Given the description of an element on the screen output the (x, y) to click on. 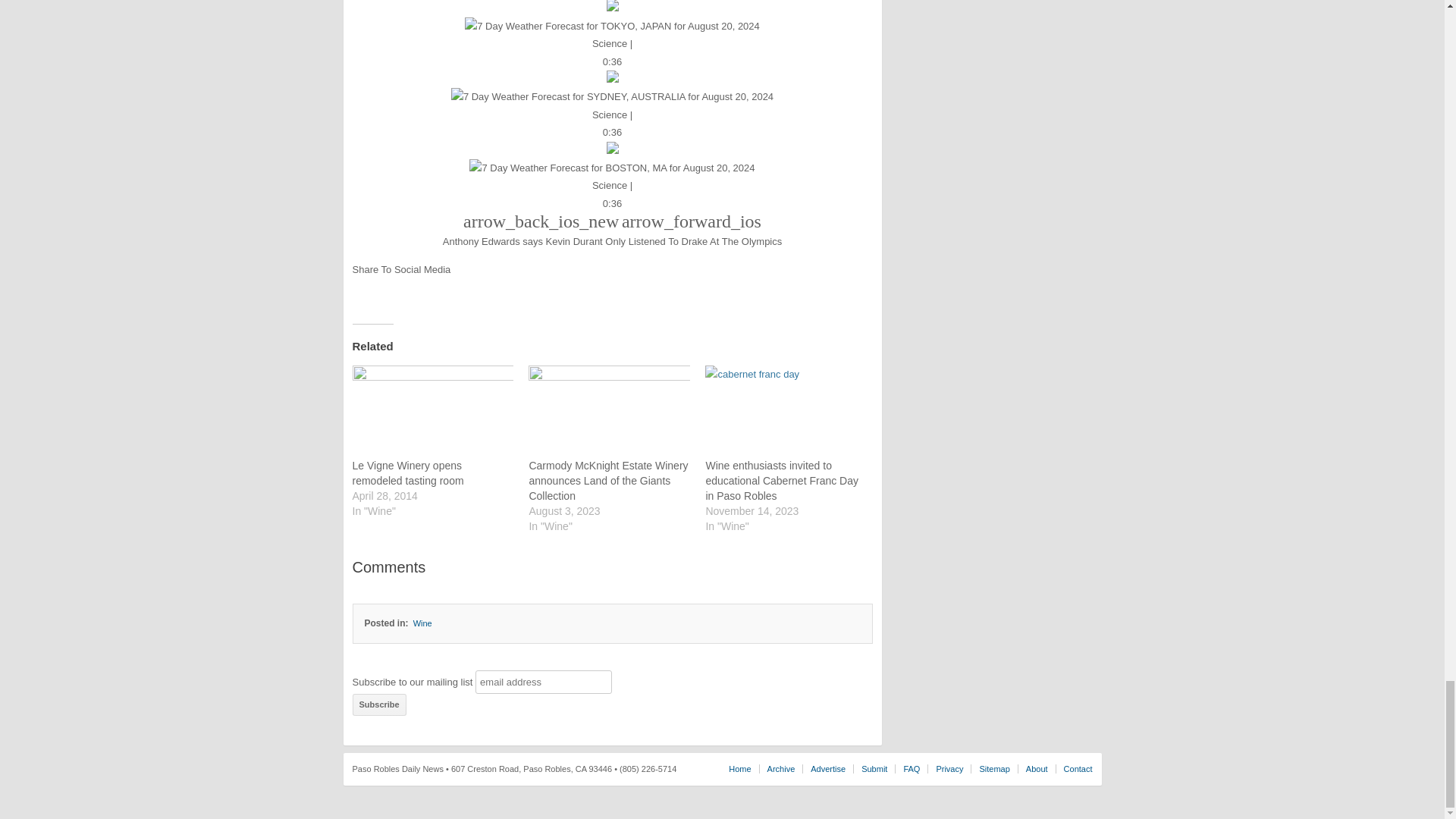
Facebook Share (363, 286)
Pin Share (406, 286)
Subscribe (379, 704)
Tweet (385, 289)
